Given the description of an element on the screen output the (x, y) to click on. 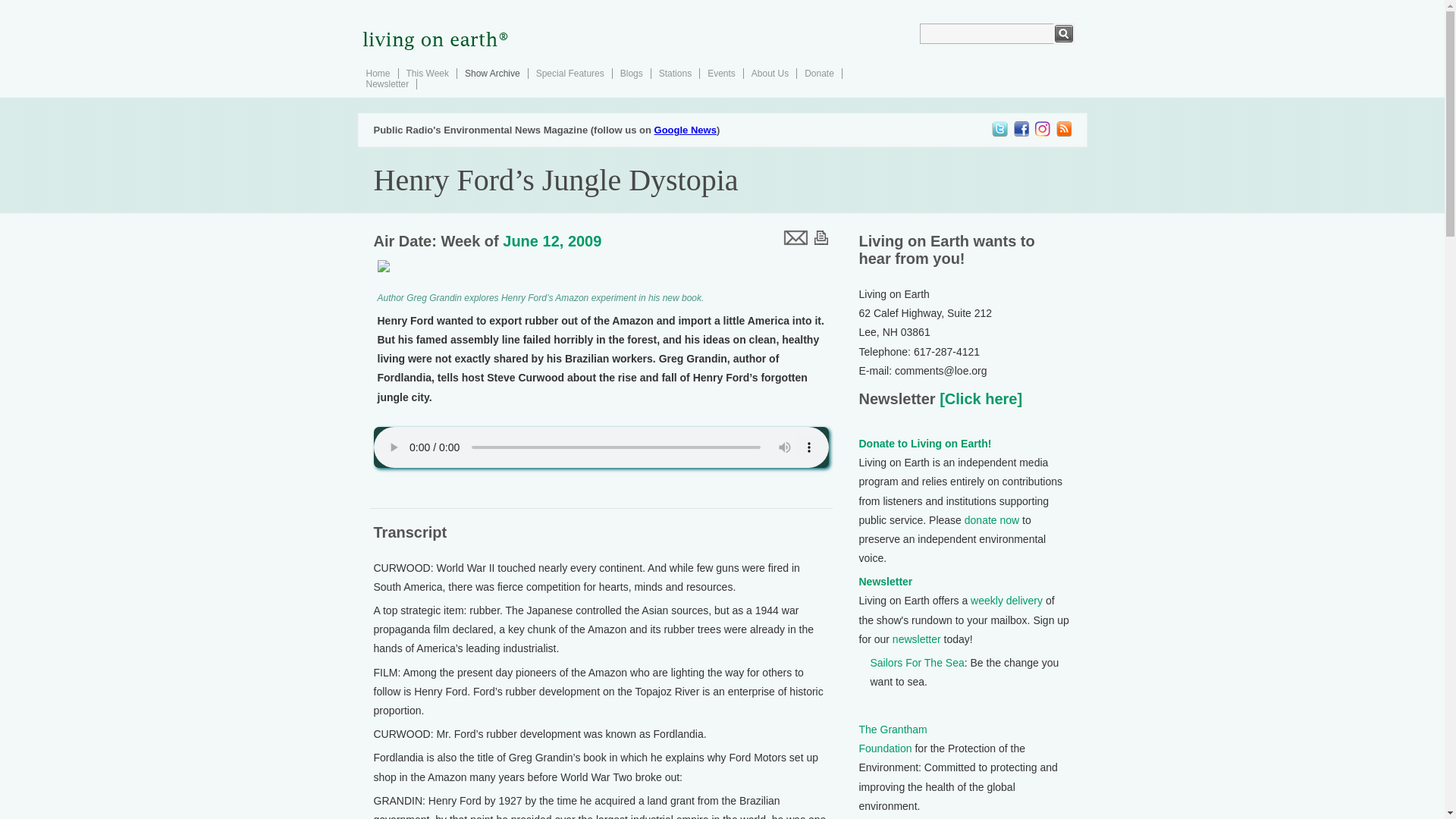
newsletter (916, 639)
print (819, 236)
donate now (991, 520)
Donate to Living on Earth! (925, 443)
Show Archive (491, 72)
Home (377, 72)
Sailors For The Sea (916, 662)
Blogs (631, 72)
June 12, 2009 (551, 240)
Special Features (569, 72)
